Given the description of an element on the screen output the (x, y) to click on. 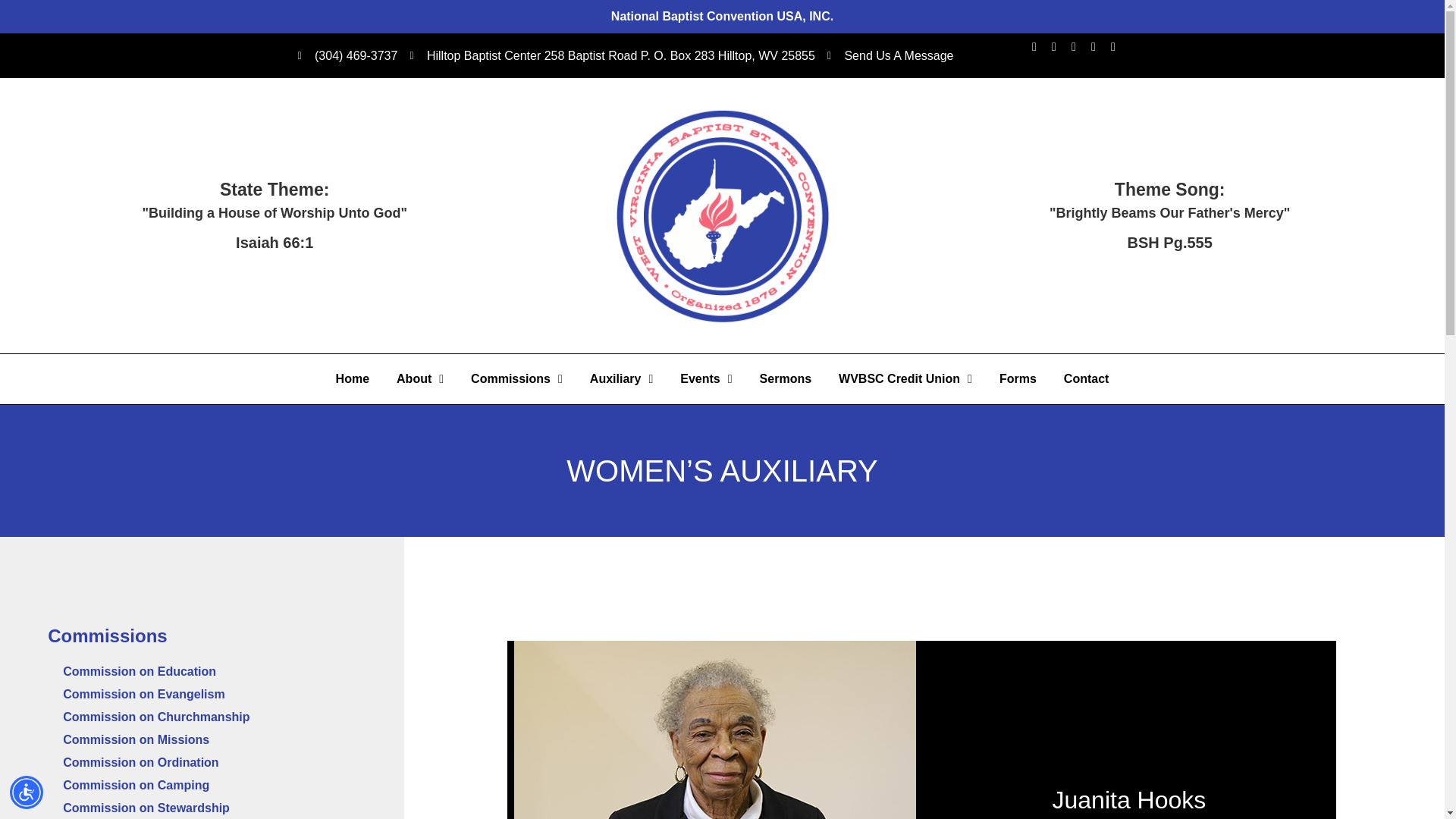
Home (351, 378)
About (419, 378)
Send Us A Message (890, 55)
Commissions (516, 378)
Auxiliary (621, 378)
Events (705, 378)
Accessibility Menu (26, 792)
